Given the description of an element on the screen output the (x, y) to click on. 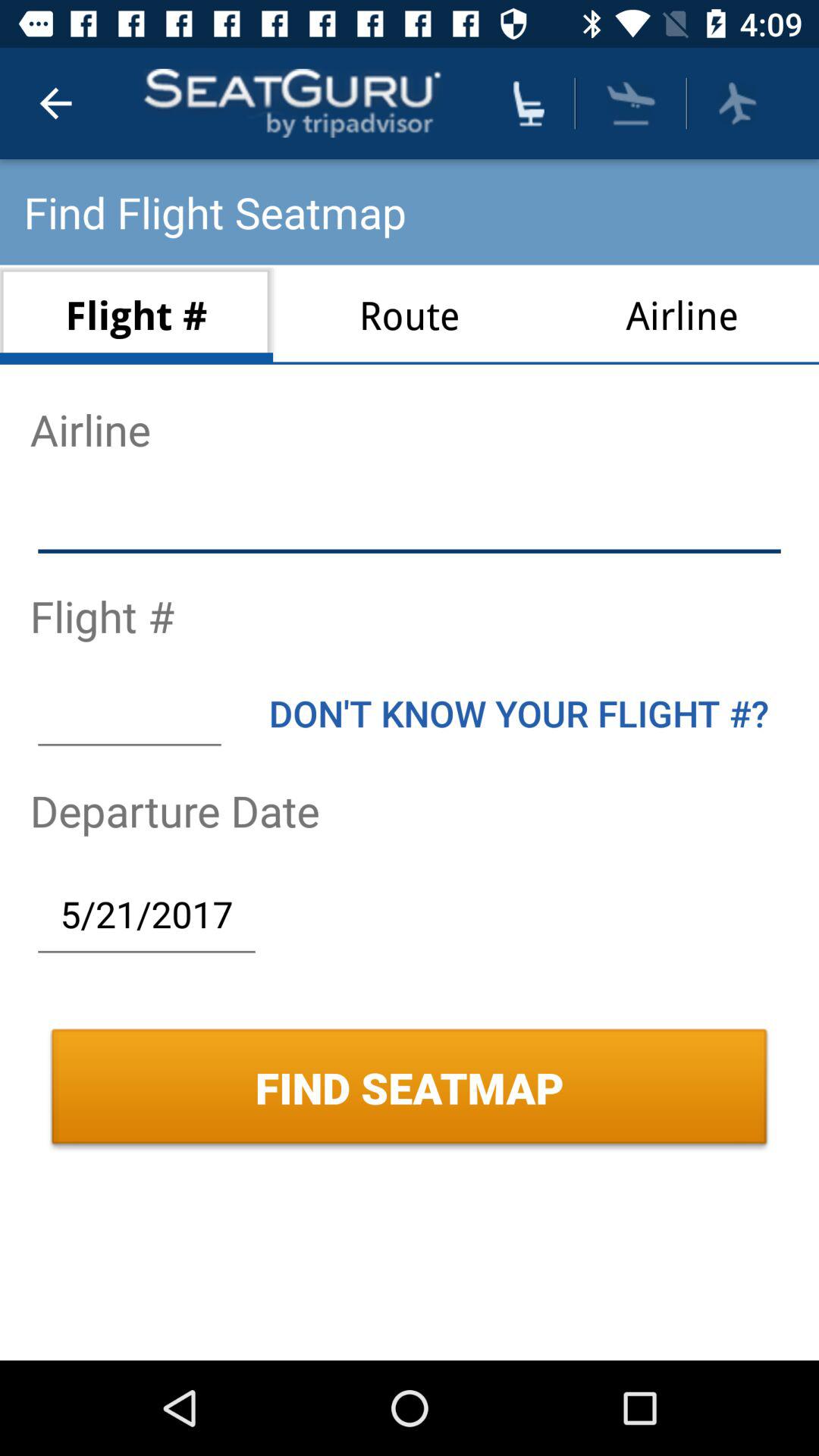
enter airline here (409, 522)
